Given the description of an element on the screen output the (x, y) to click on. 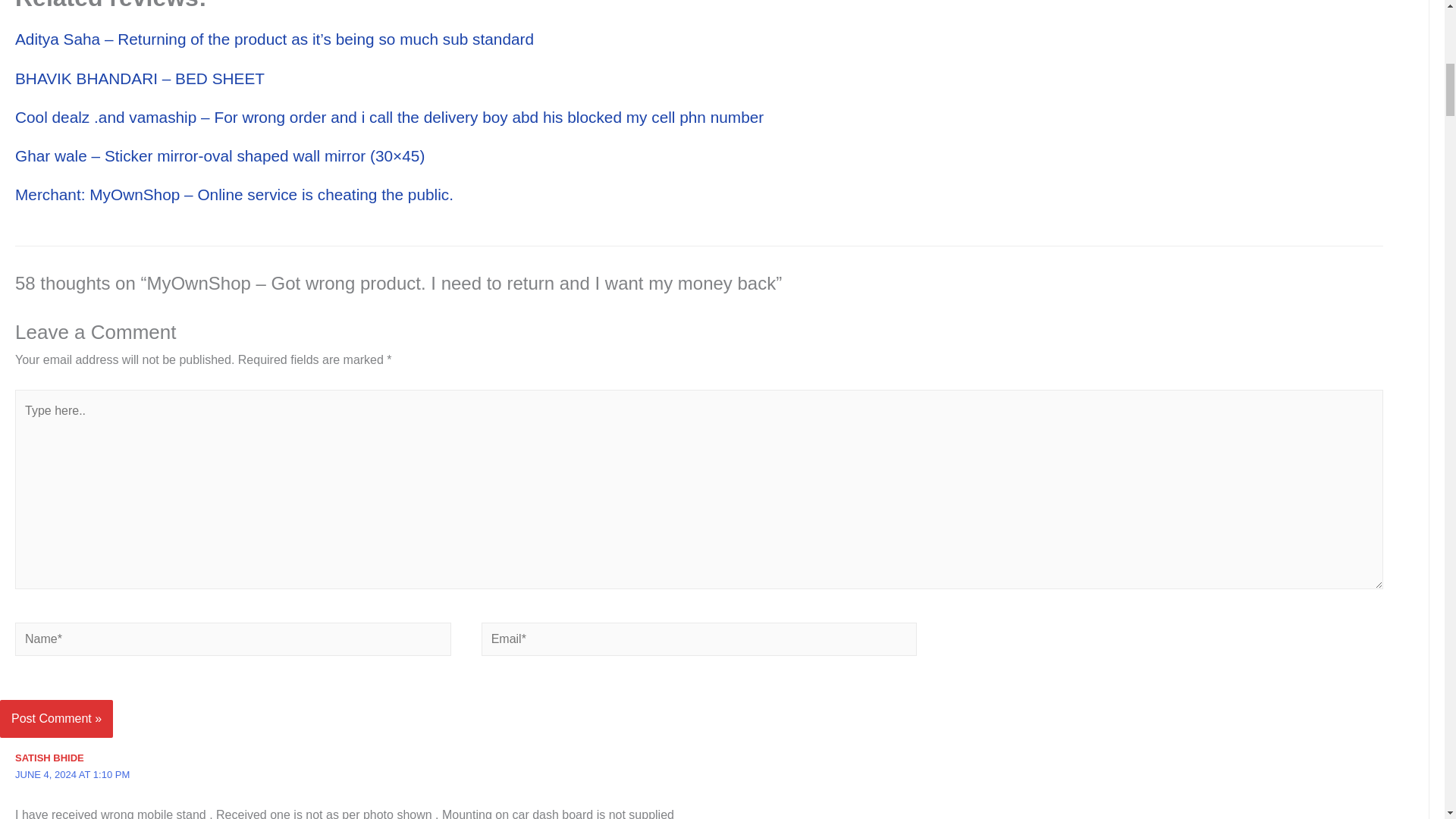
JUNE 4, 2024 AT 1:10 PM (71, 774)
